Given the description of an element on the screen output the (x, y) to click on. 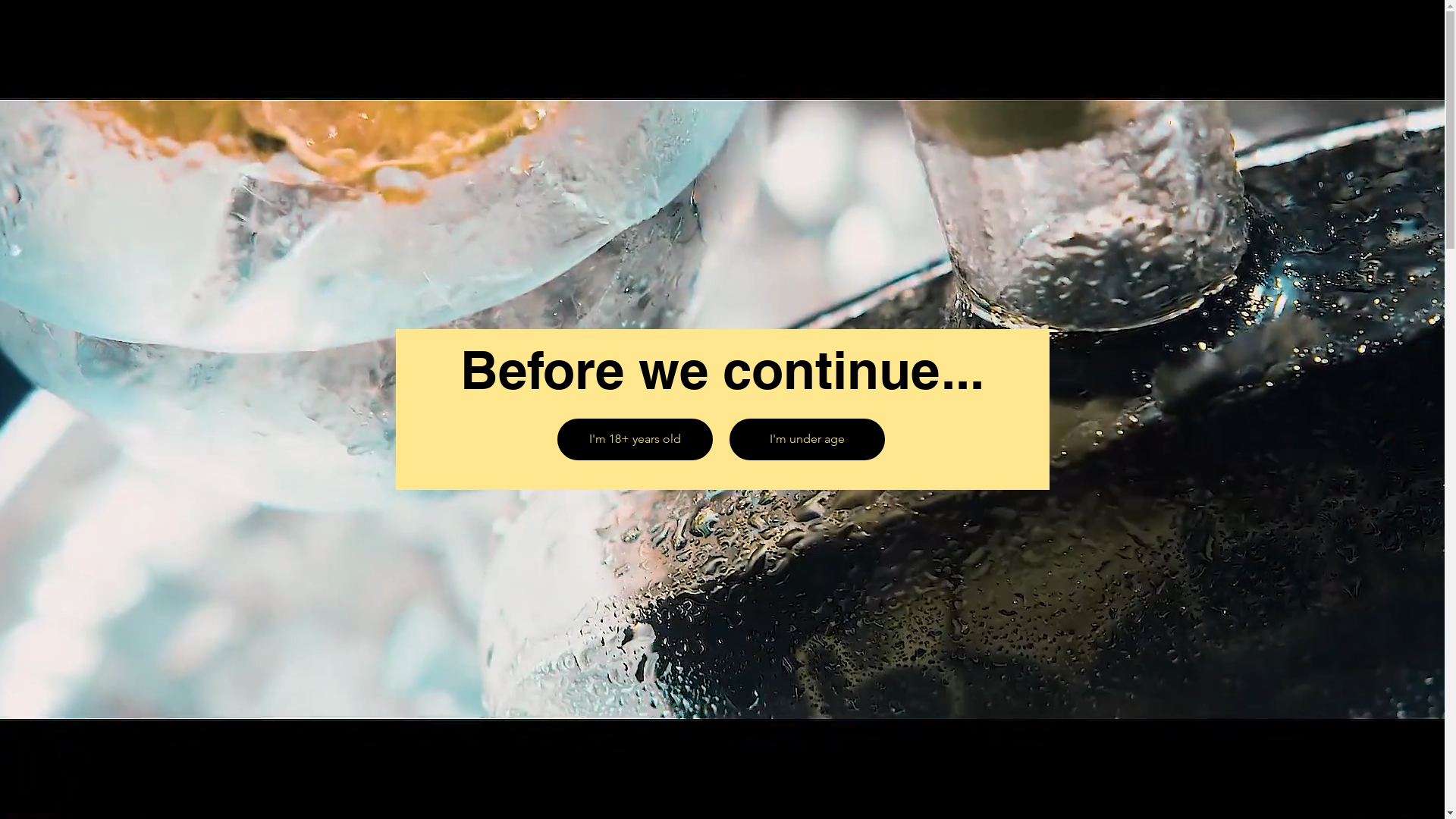
Boobies gin logo.PNG Element type: hover (341, 38)
I'm 18+ years old Element type: text (634, 439)
0 Element type: text (1399, 38)
Contact Element type: text (1272, 31)
I'm under age Element type: text (807, 439)
Shop Element type: text (1194, 31)
SHOP NOW Element type: text (898, 417)
CONTACT US Element type: text (706, 417)
Log In Element type: text (1340, 38)
Home Element type: text (1044, 31)
About Element type: text (1120, 31)
